Given the description of an element on the screen output the (x, y) to click on. 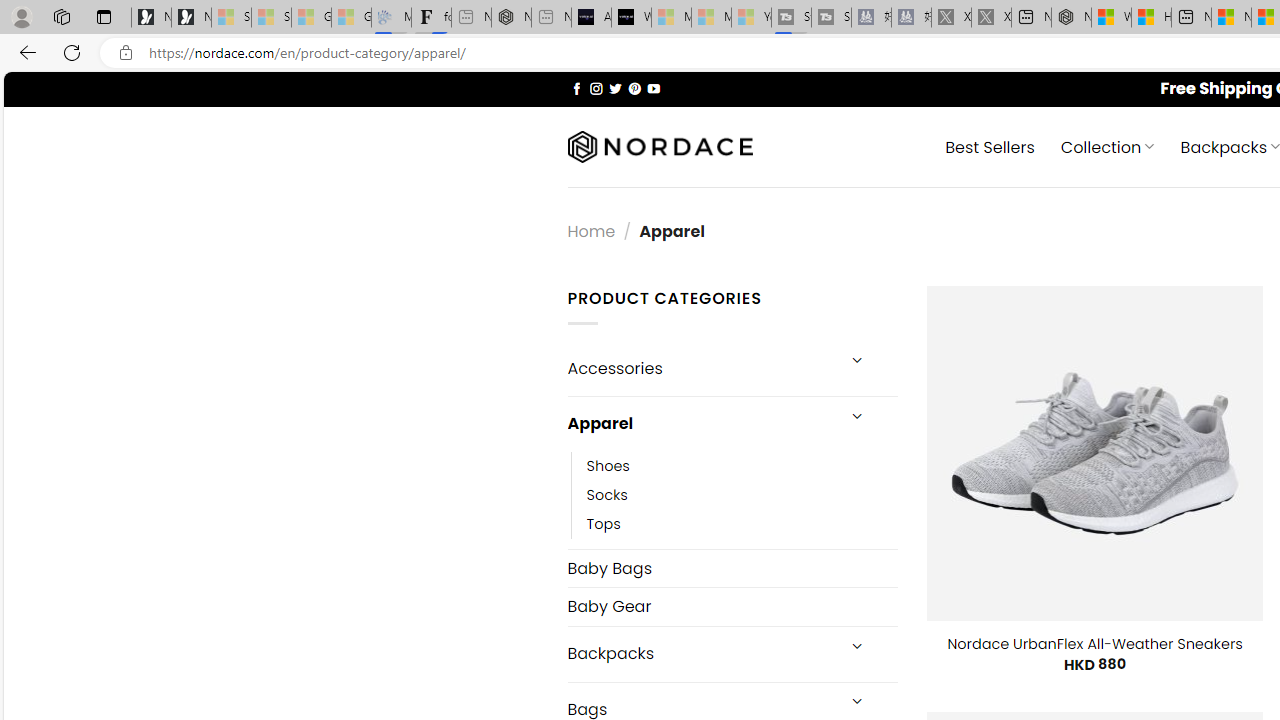
Tops (603, 524)
 Best Sellers (989, 146)
Baby Bags (732, 567)
Nordace - My Account (1071, 17)
Tops (742, 524)
Baby Bags (732, 568)
